Given the description of an element on the screen output the (x, y) to click on. 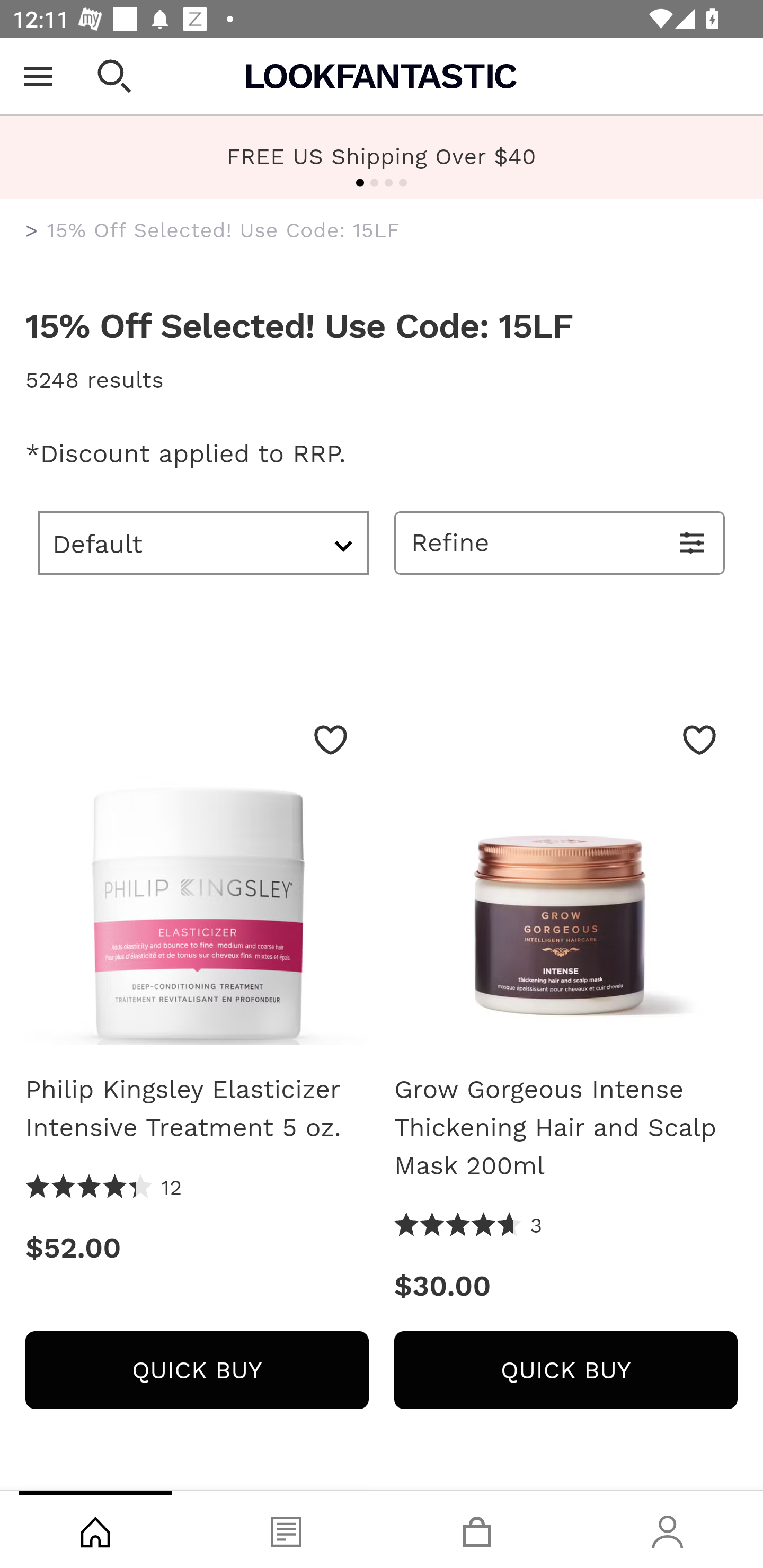
Open Menu (38, 75)
Open search (114, 75)
Lookfantastic USA (381, 75)
FREE US Shipping Over $40 (381, 157)
FREE US Shipping Over $40 (381, 155)
us.lookfantastic (32, 230)
Default (203, 542)
Refine (559, 542)
Save to Wishlist (330, 740)
Save to Wishlist (698, 740)
4.33 Stars 12 Reviews (104, 1187)
4.67 Stars 3 Reviews (468, 1225)
Price: $52.00 (196, 1247)
Price: $30.00 (565, 1286)
Shop, tab, 1 of 4 (95, 1529)
Blog, tab, 2 of 4 (285, 1529)
Basket, tab, 3 of 4 (476, 1529)
Account, tab, 4 of 4 (667, 1529)
